Given the description of an element on the screen output the (x, y) to click on. 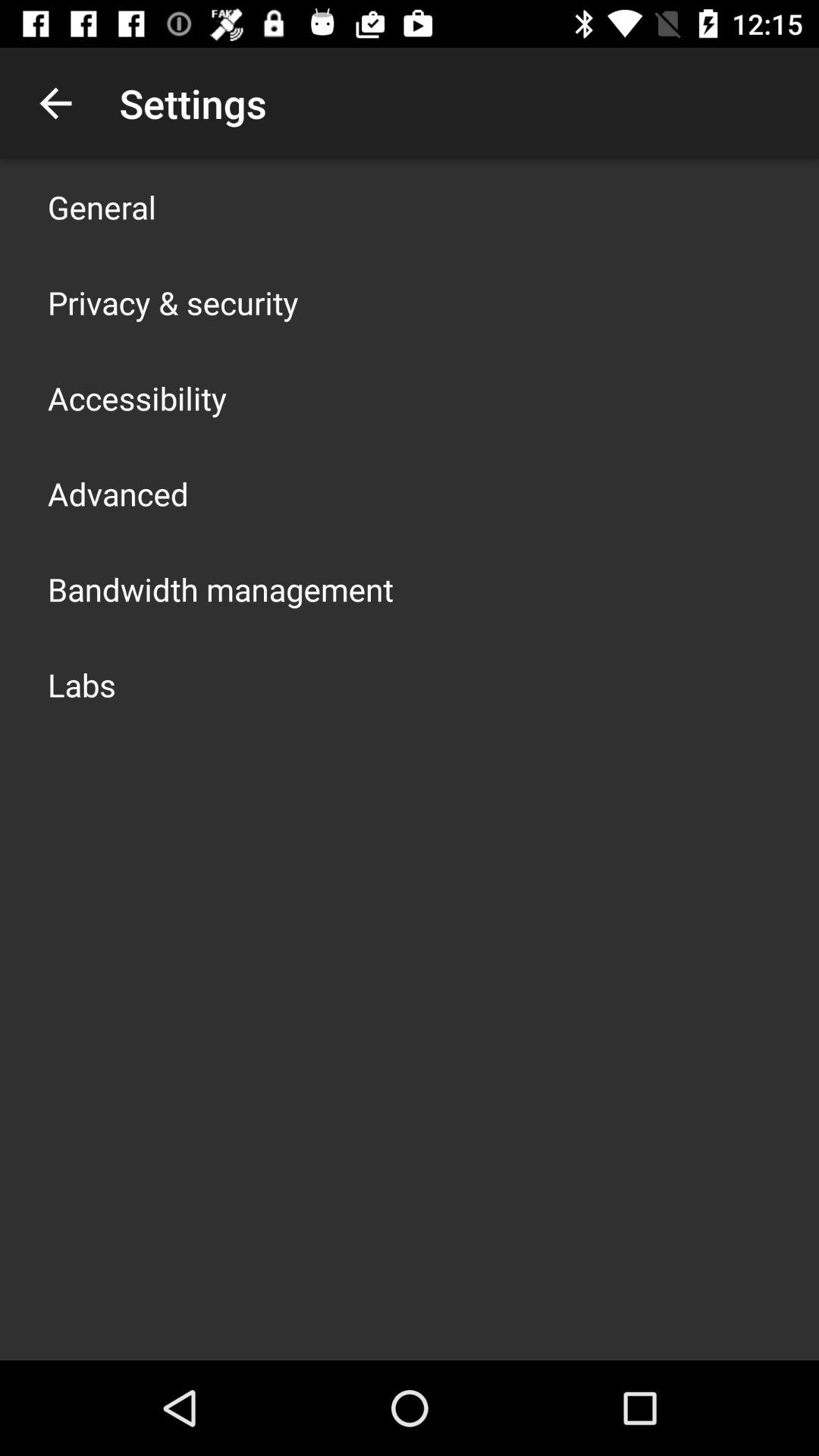
swipe until the privacy & security (172, 302)
